Given the description of an element on the screen output the (x, y) to click on. 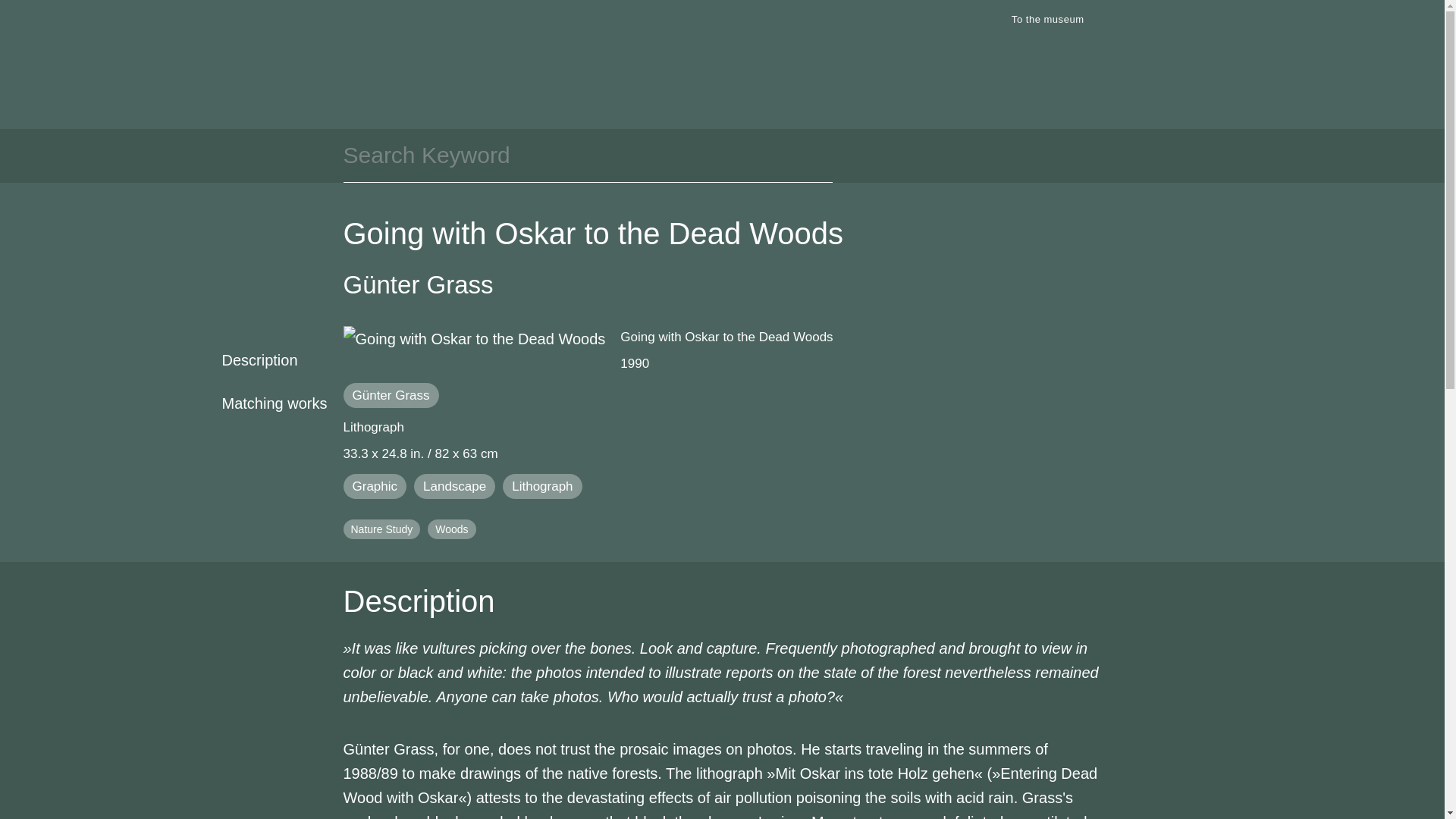
Woods (452, 528)
Lithograph (541, 486)
To the museum (1052, 19)
Nature Study (381, 528)
Landscape (454, 486)
Description (266, 359)
Graphic (374, 486)
Search (990, 20)
Matching works (266, 402)
